Given the description of an element on the screen output the (x, y) to click on. 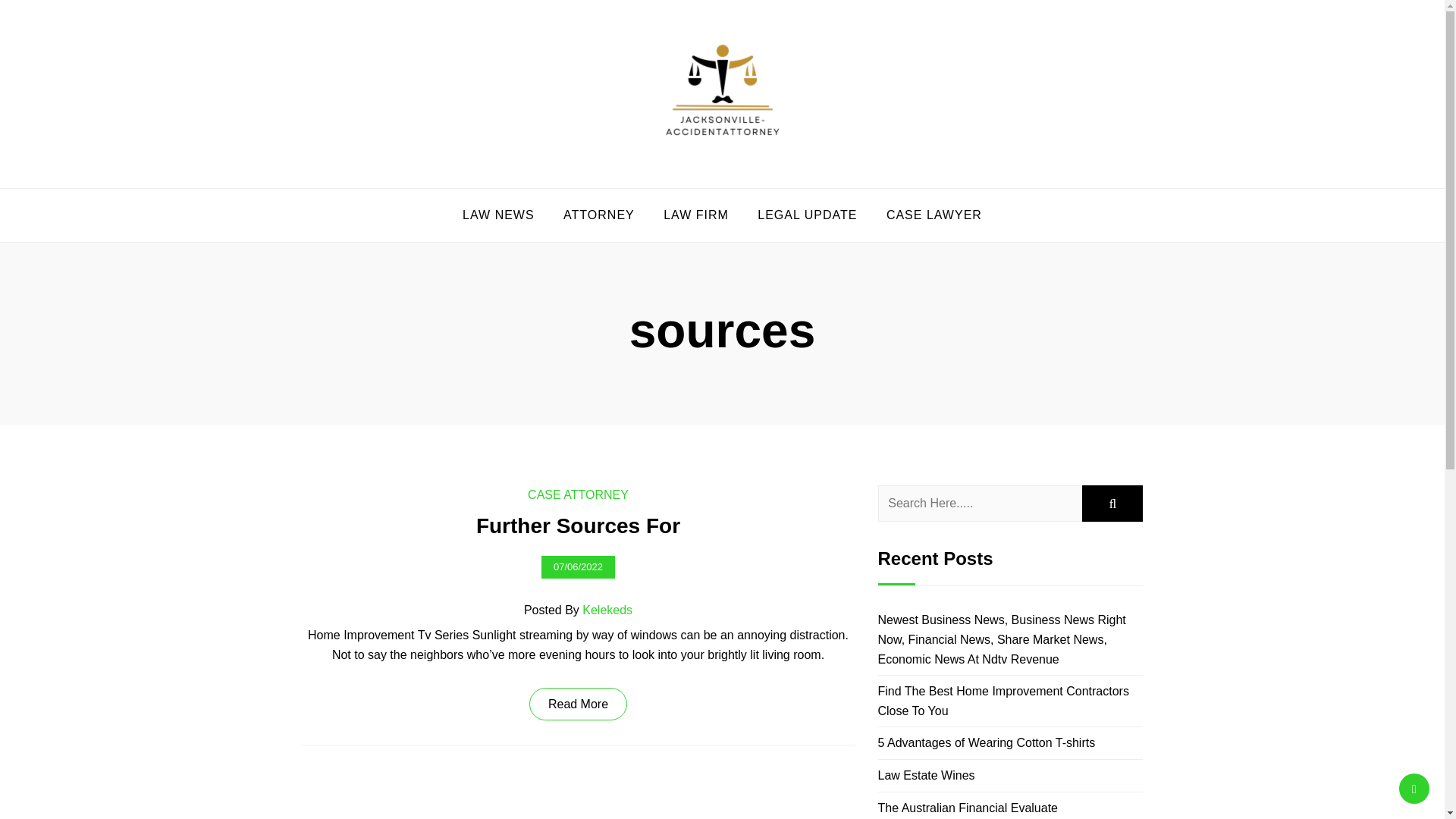
Find The Best Home Improvement Contractors Close To You (1003, 700)
ATTORNEY (598, 215)
CASE LAWYER (933, 215)
Law Estate Wines (926, 775)
The Australian Financial Evaluate (967, 807)
5 Advantages of Wearing Cotton T-shirts (986, 742)
J-A (340, 185)
LEGAL UPDATE (806, 215)
Read More (578, 704)
Posted By Kelekeds (577, 609)
LAW NEWS (498, 215)
LAW FIRM (695, 215)
CASE ATTORNEY (577, 494)
Further Sources For (578, 525)
